Given the description of an element on the screen output the (x, y) to click on. 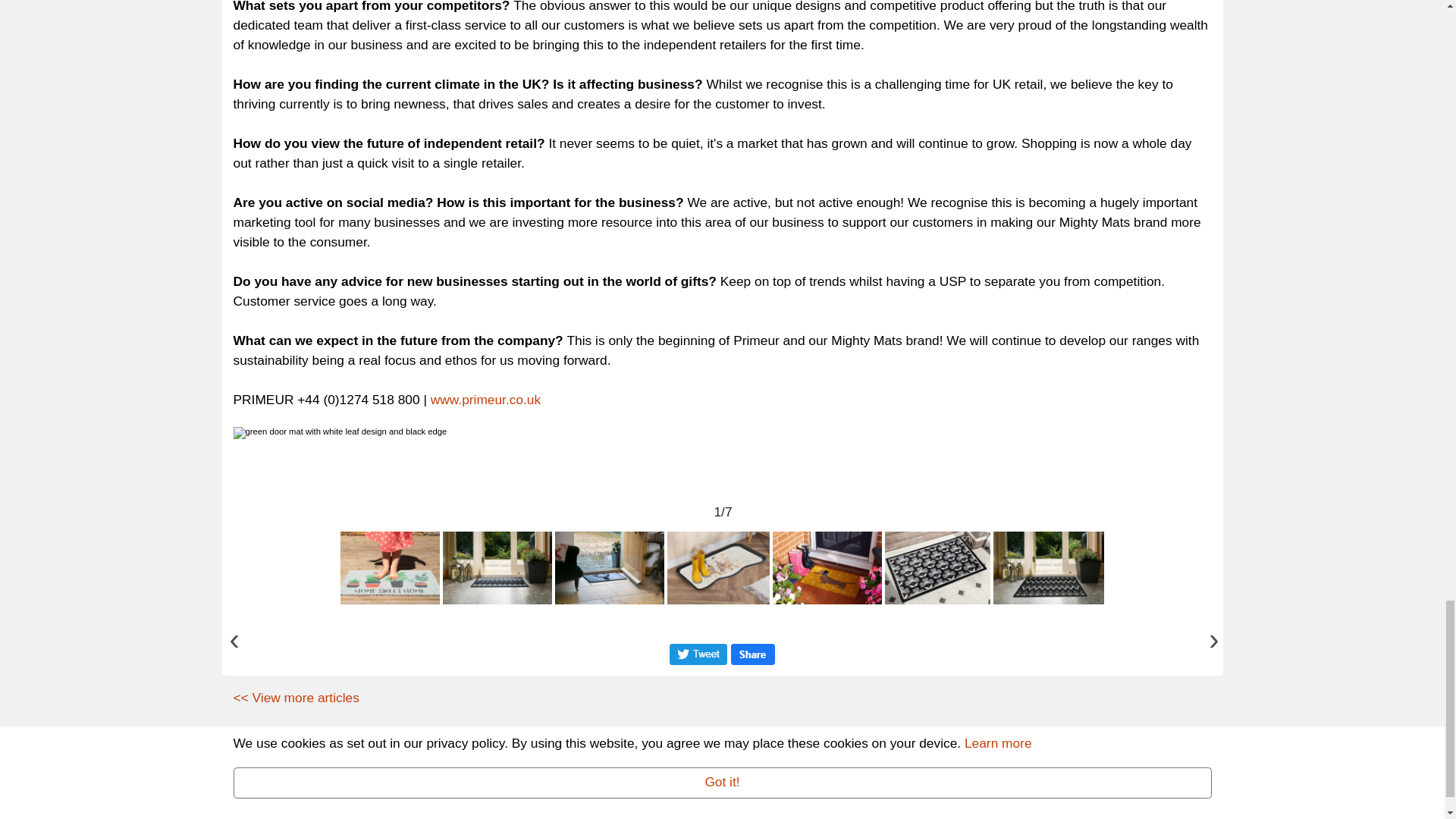
View more articles (295, 697)
Email Ellis Media and Events Ltd (533, 814)
Visit the Ellis Media and Events Ltd website (1139, 787)
